Given the description of an element on the screen output the (x, y) to click on. 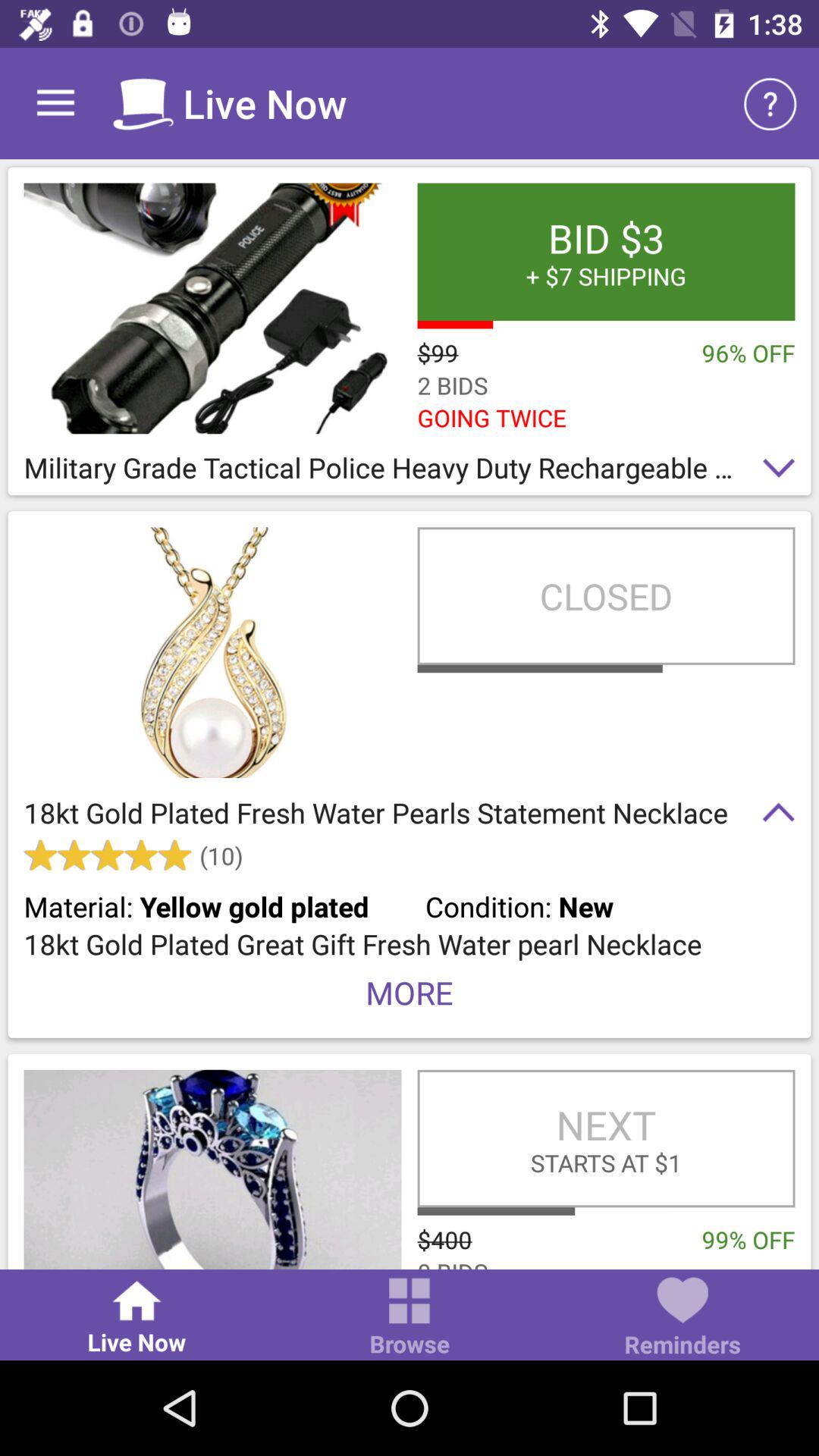
press the closed (606, 595)
